Given the description of an element on the screen output the (x, y) to click on. 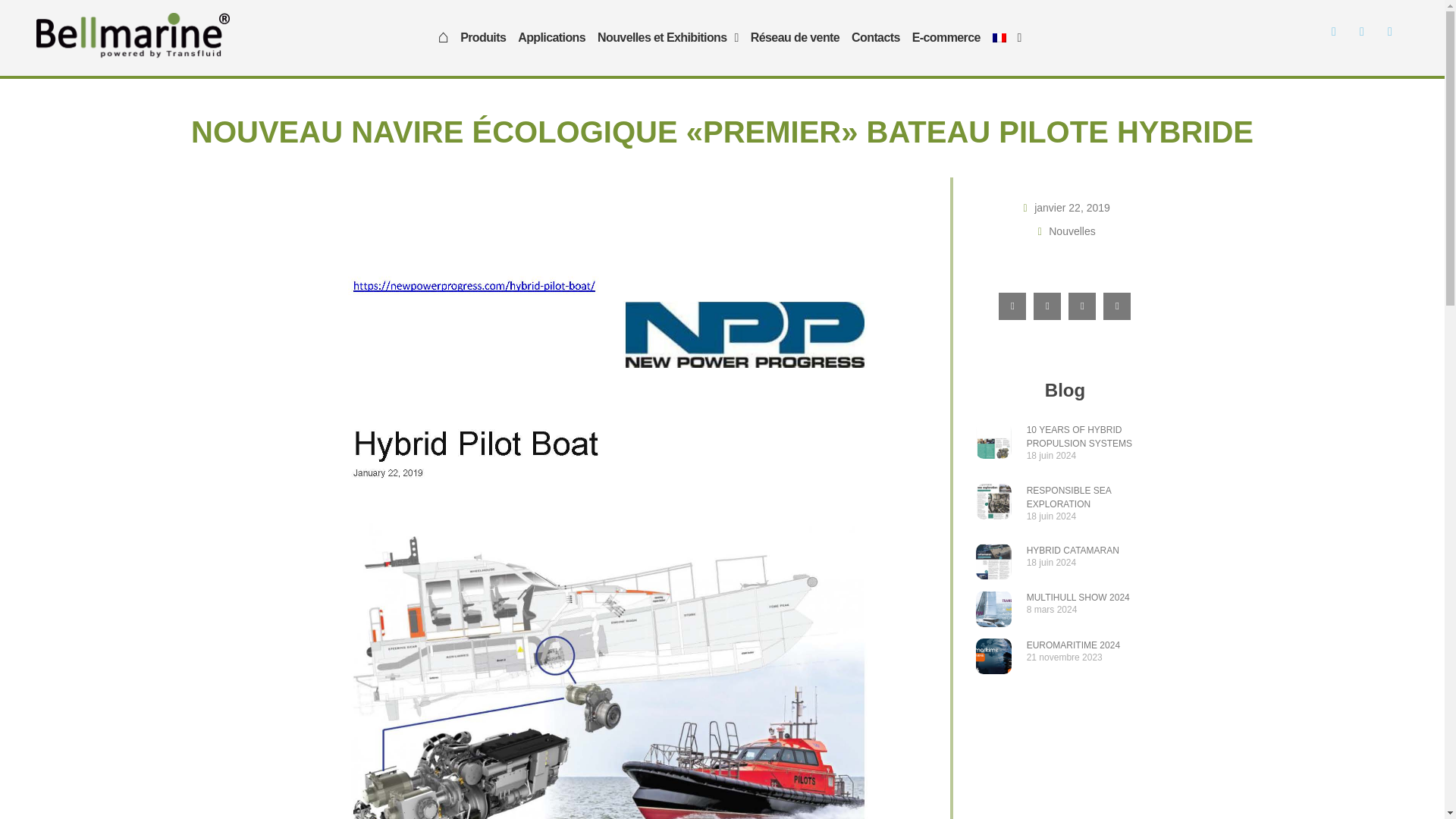
E-commerce (946, 38)
Nouvelles et Exhibitions (667, 38)
Applications (551, 38)
